Given the description of an element on the screen output the (x, y) to click on. 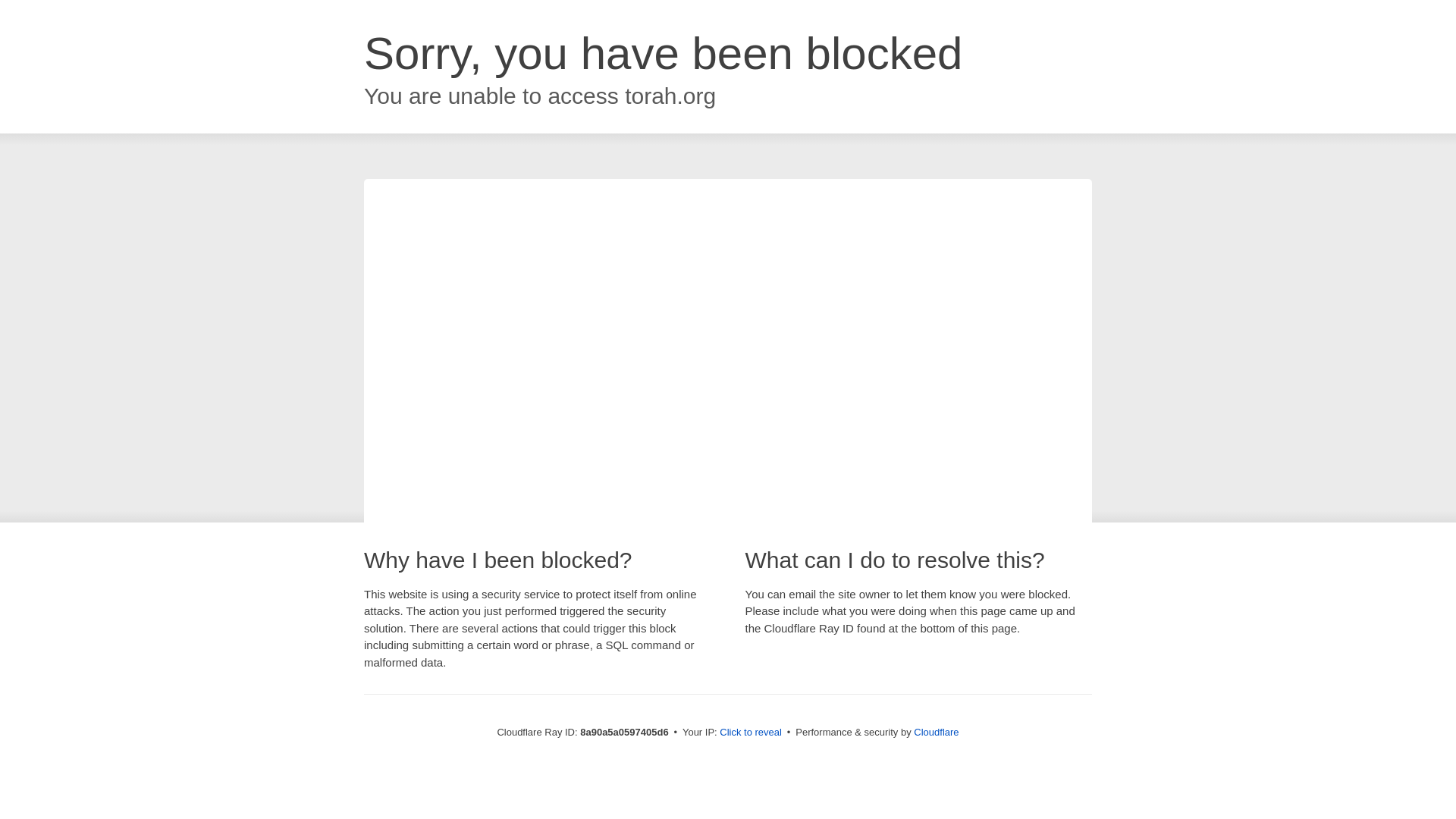
Click to reveal (750, 732)
Cloudflare (936, 731)
